Given the description of an element on the screen output the (x, y) to click on. 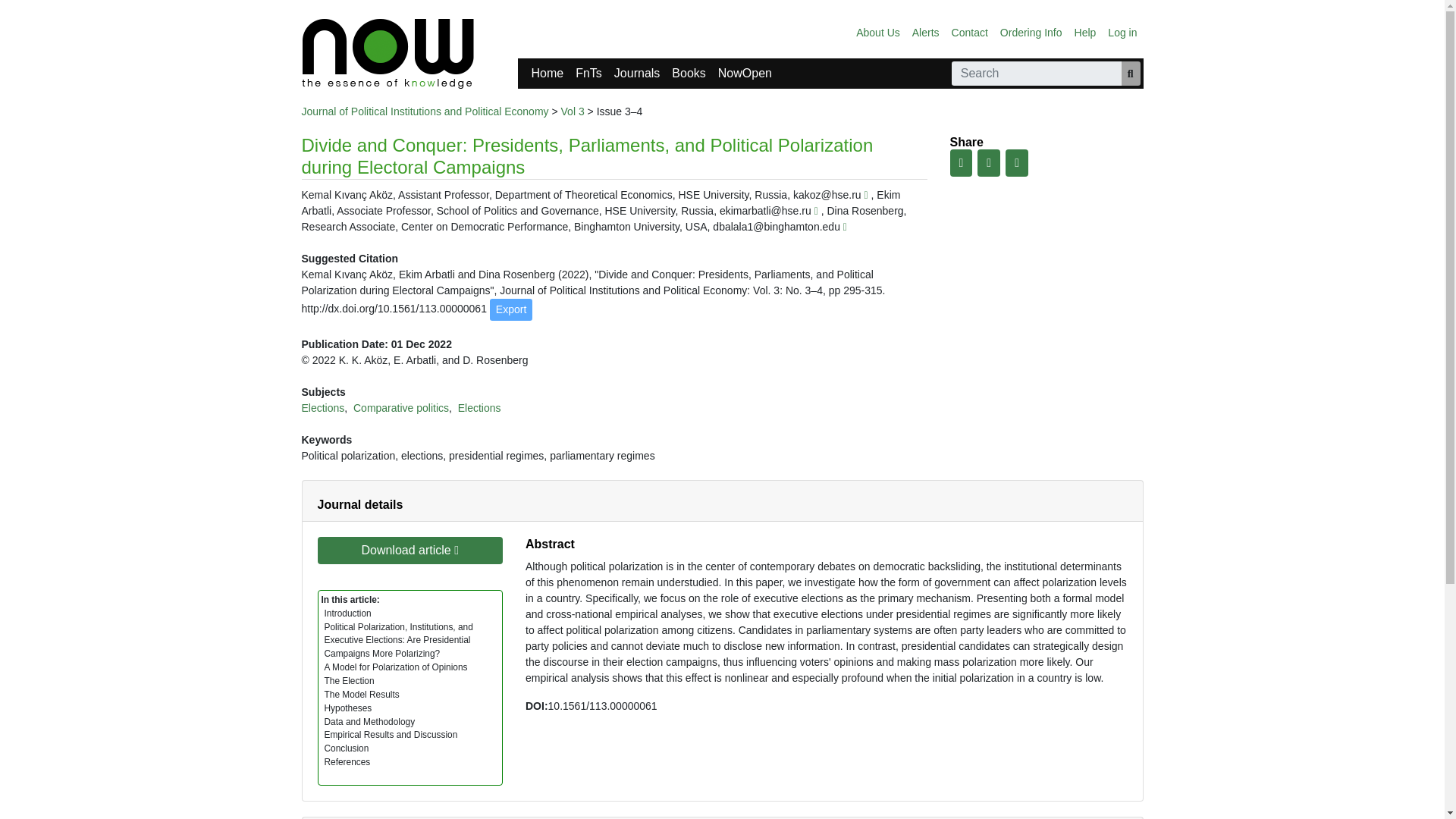
Alerts (924, 32)
Elections (479, 408)
Books (688, 73)
Vol 3 (572, 111)
FnTs (588, 73)
Export (510, 309)
Comparative politics (400, 408)
Download article (409, 550)
Contact (969, 32)
About Us (877, 32)
Journal of Political Institutions and Political Economy (424, 111)
Journal details (360, 504)
Log in (1122, 32)
Ordering Info (1031, 32)
Journals (636, 73)
